Given the description of an element on the screen output the (x, y) to click on. 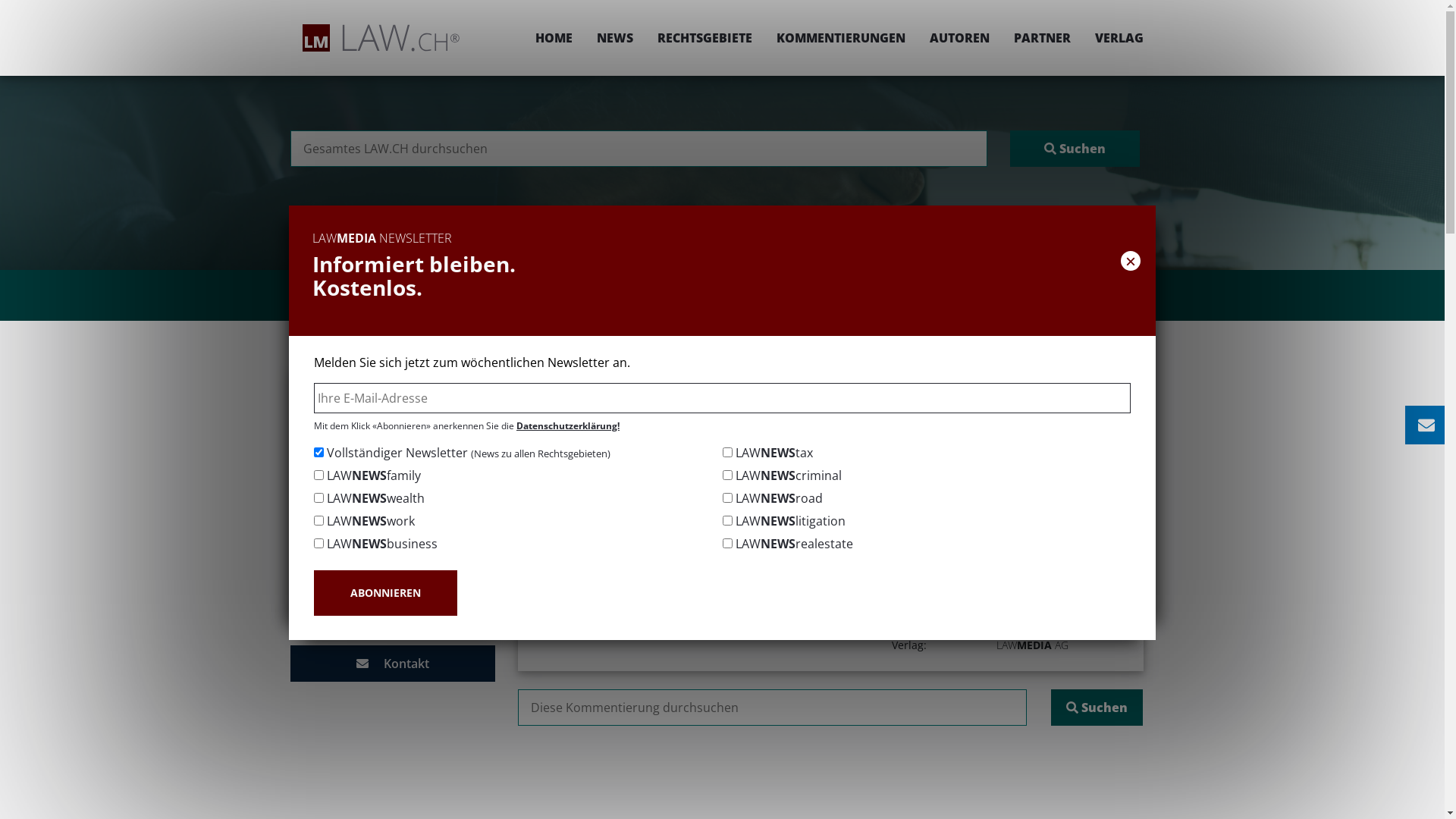
NEWS Element type: text (613, 37)
Inhaltsverzeichnis Element type: text (391, 407)
Stufenfolge Element type: text (391, 434)
Suchen nach: Element type: hover (771, 707)
Home Element type: text (628, 375)
Anwendbares Recht Element type: text (391, 540)
PARTNER Element type: text (1041, 37)
AUTOREN Element type: text (959, 37)
HOME Element type: text (553, 37)
Suchen nach: Element type: hover (637, 148)
ABONNIEREN Element type: text (385, 592)
 DRUCKEN / PDF Element type: text (1095, 426)
Kontakt Element type: text (391, 620)
Streitthemen Element type: text (391, 487)
Rechtsgebiete Element type: text (697, 375)
Prozessvertretung Element type: text (391, 567)
RECHTSGEBIETE Element type: text (703, 37)
Schlichtungsverfahren Element type: text (391, 460)
Einleitung zum Arbeitsprozess Element type: text (391, 381)
 TEILEN Element type: text (989, 426)
KOMMENTIERUNGEN Element type: text (840, 37)
VERLAG Element type: text (1112, 37)
    Kontakt Element type: text (391, 663)
